Given the description of an element on the screen output the (x, y) to click on. 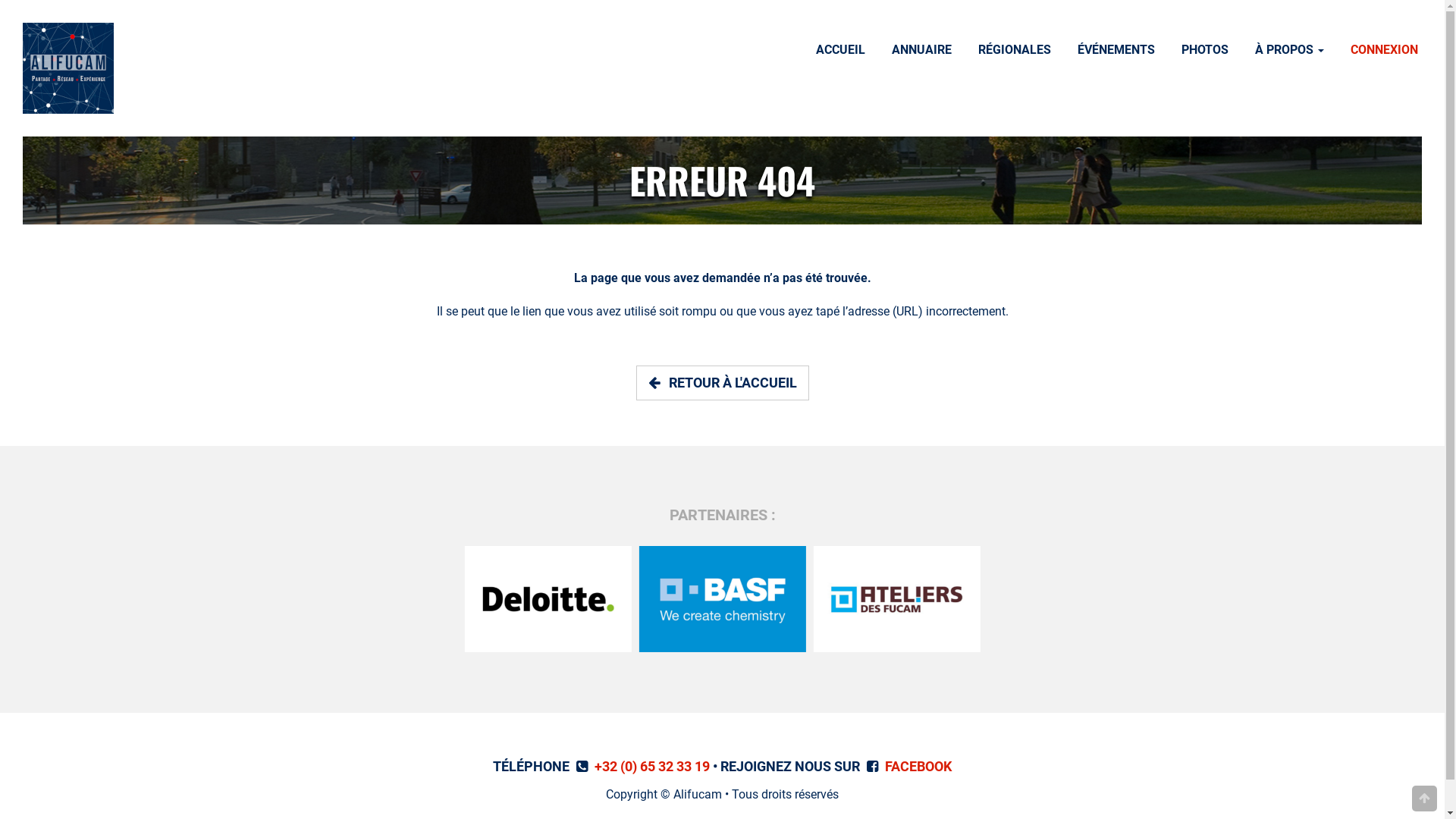
ACCUEIL Element type: text (840, 51)
PHOTOS Element type: text (1204, 51)
CONNEXION Element type: text (1384, 51)
FACEBOOK Element type: text (917, 766)
ANNUAIRE Element type: text (921, 51)
